Given the description of an element on the screen output the (x, y) to click on. 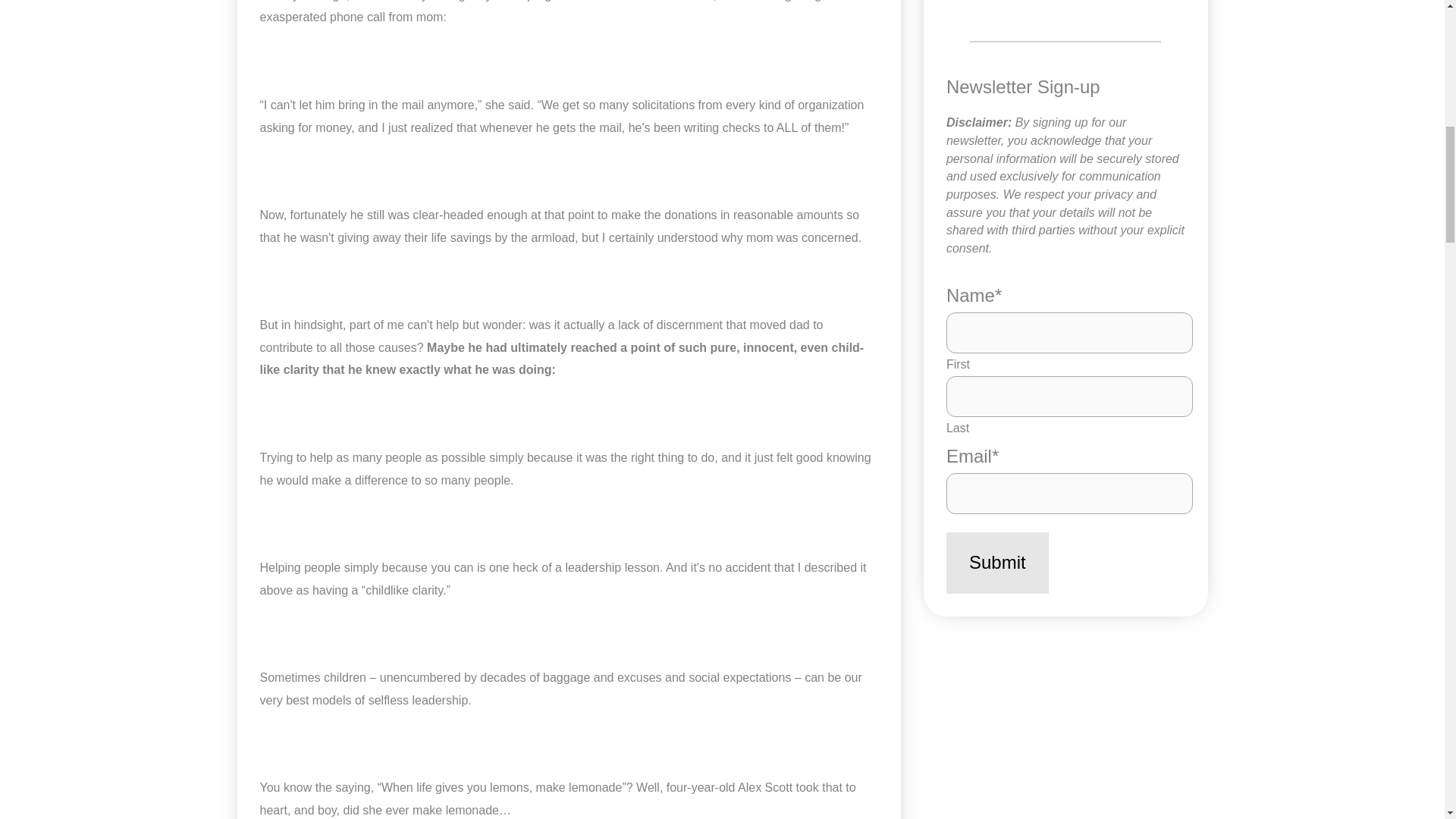
Submit (997, 562)
